Given the description of an element on the screen output the (x, y) to click on. 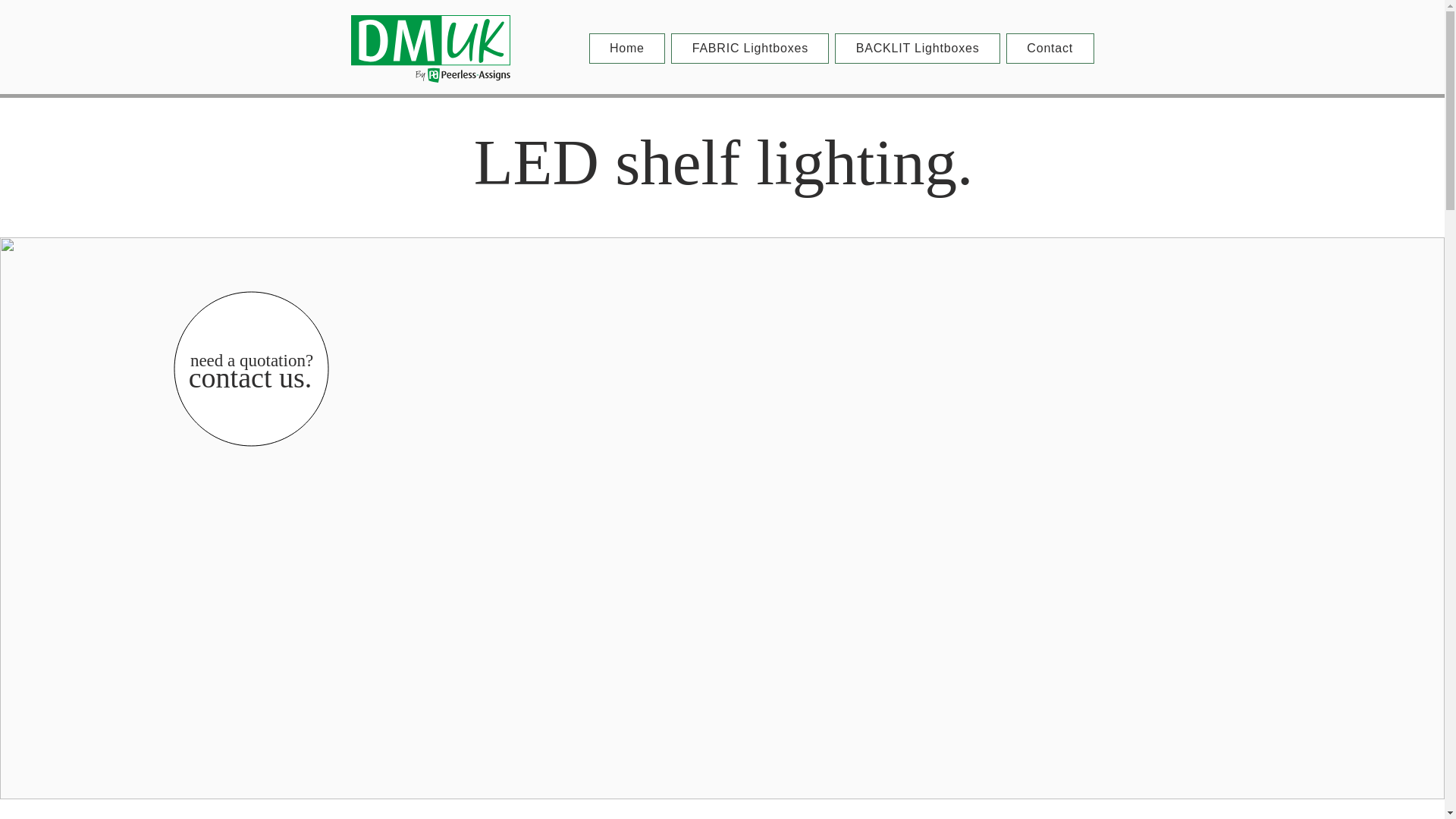
Home (626, 48)
Contact (1050, 48)
FABRIC Lightboxes (749, 48)
BACKLIT Lightboxes (917, 48)
